Given the description of an element on the screen output the (x, y) to click on. 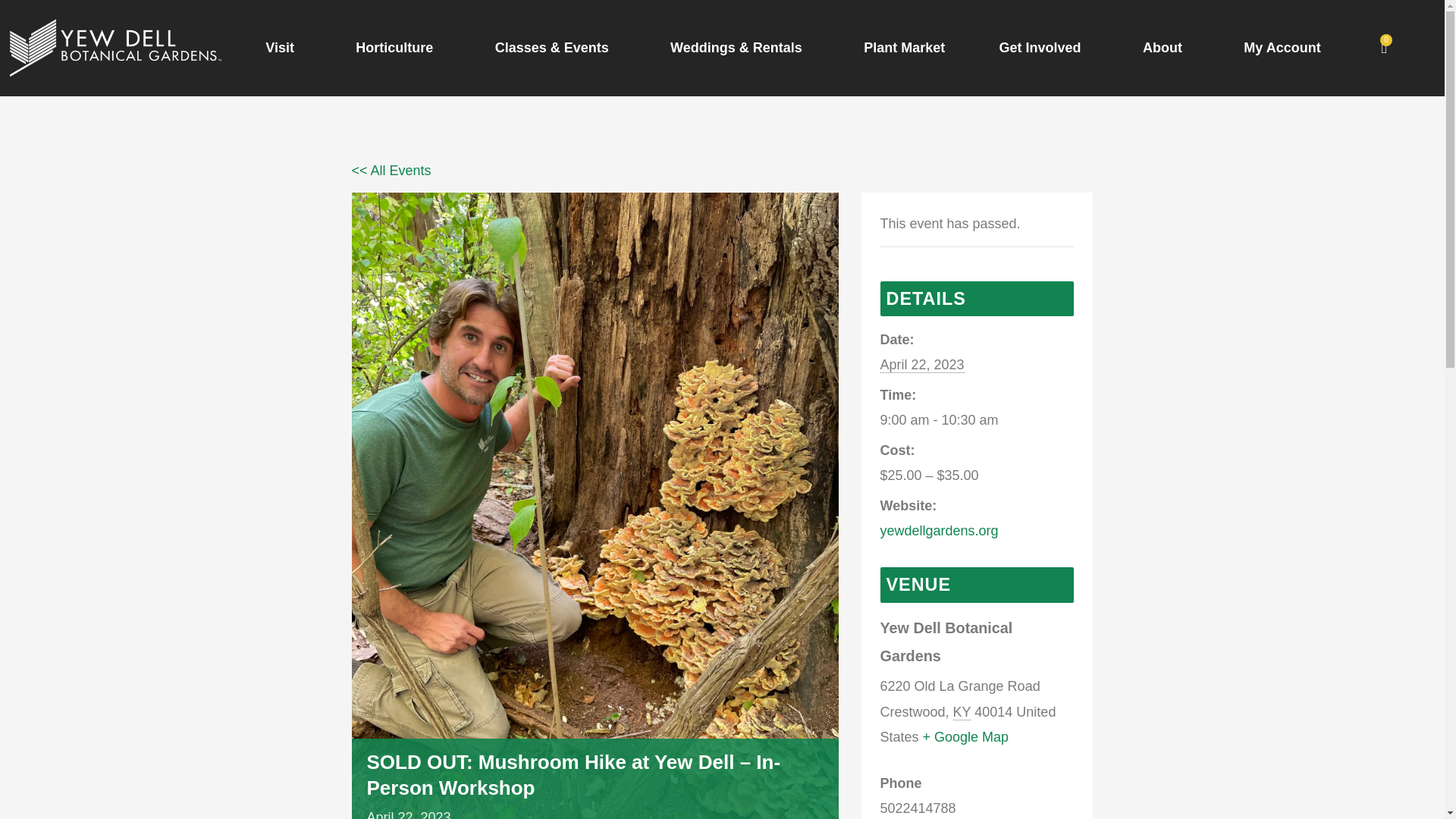
Kentucky (962, 712)
About (1165, 47)
Horticulture (398, 47)
Get Involved (1043, 47)
Visit (283, 47)
Plant Market (904, 47)
2023-04-22 (921, 365)
2023-04-22 (976, 420)
My Account (1282, 47)
Click to view a Google Map (966, 736)
